Given the description of an element on the screen output the (x, y) to click on. 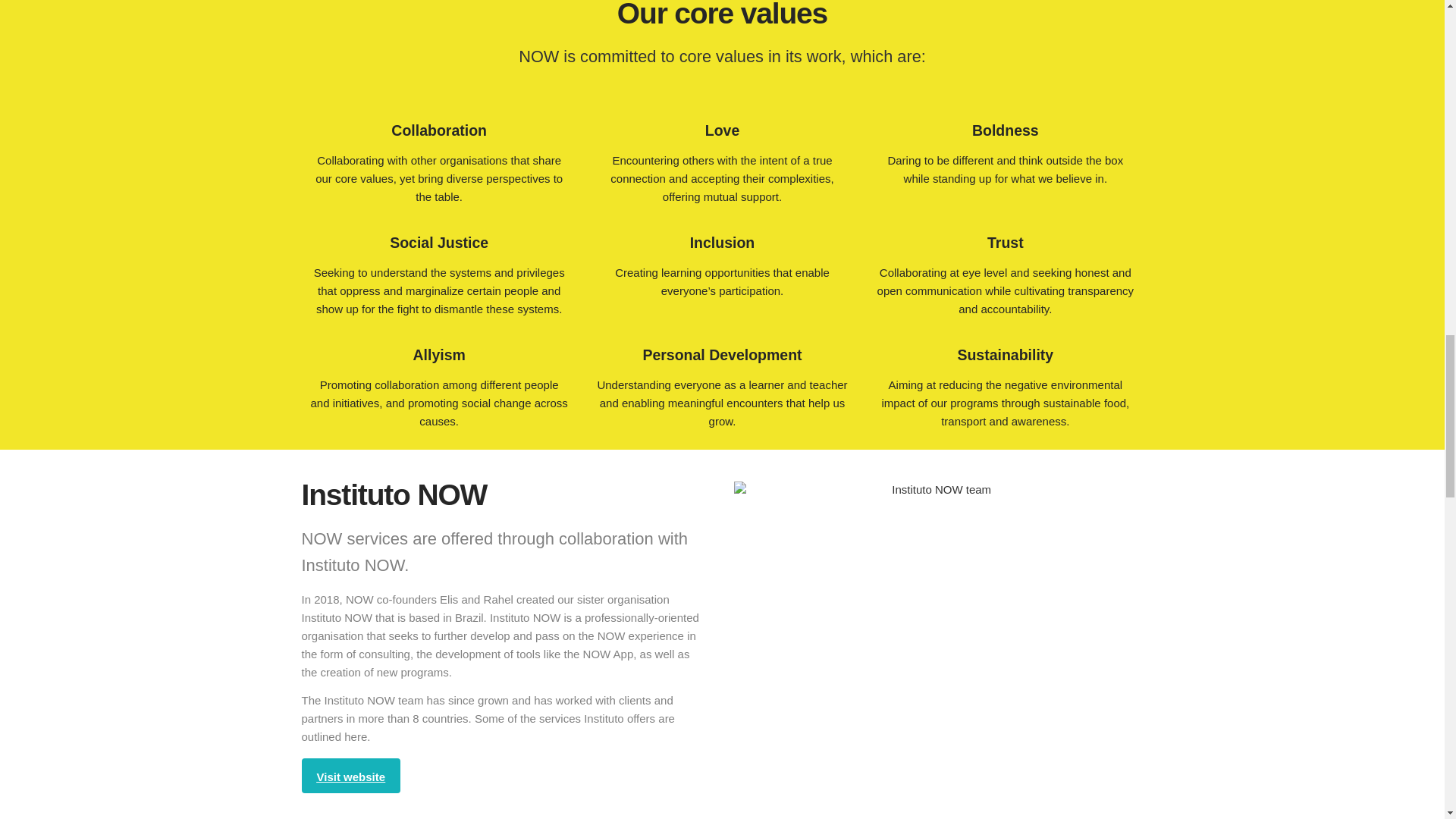
Visit website (351, 775)
